Given the description of an element on the screen output the (x, y) to click on. 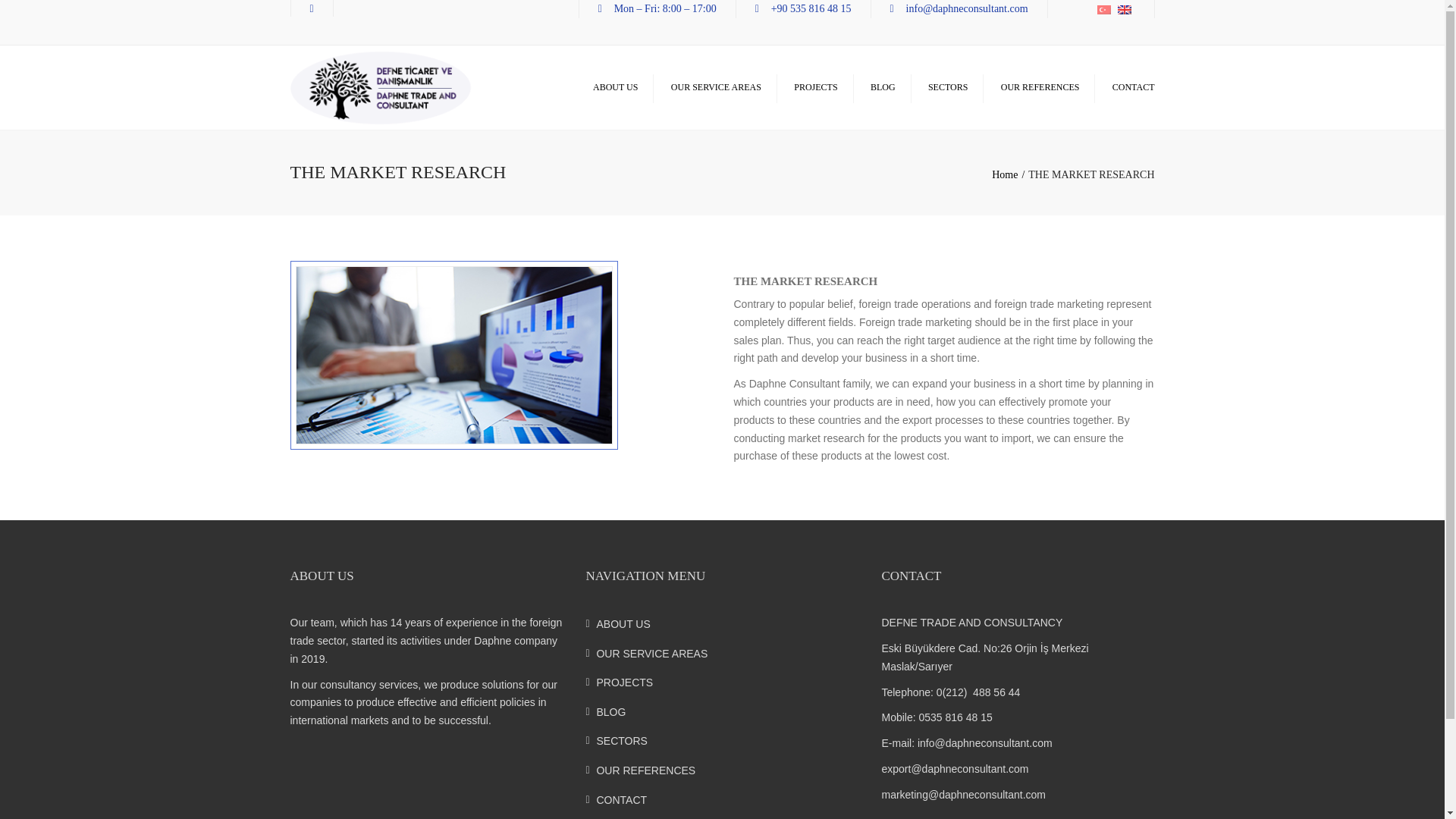
CONTACT (1133, 87)
PROJECTS (722, 682)
BLOG (722, 711)
PROJECTS (815, 87)
OUR SERVICE AREAS (715, 87)
BLOG (882, 87)
ABOUT US (615, 87)
Home (1009, 174)
ABOUT US (722, 624)
OUR REFERENCES (1039, 87)
OUR SERVICE AREAS (722, 653)
SECTORS (947, 87)
